Given the description of an element on the screen output the (x, y) to click on. 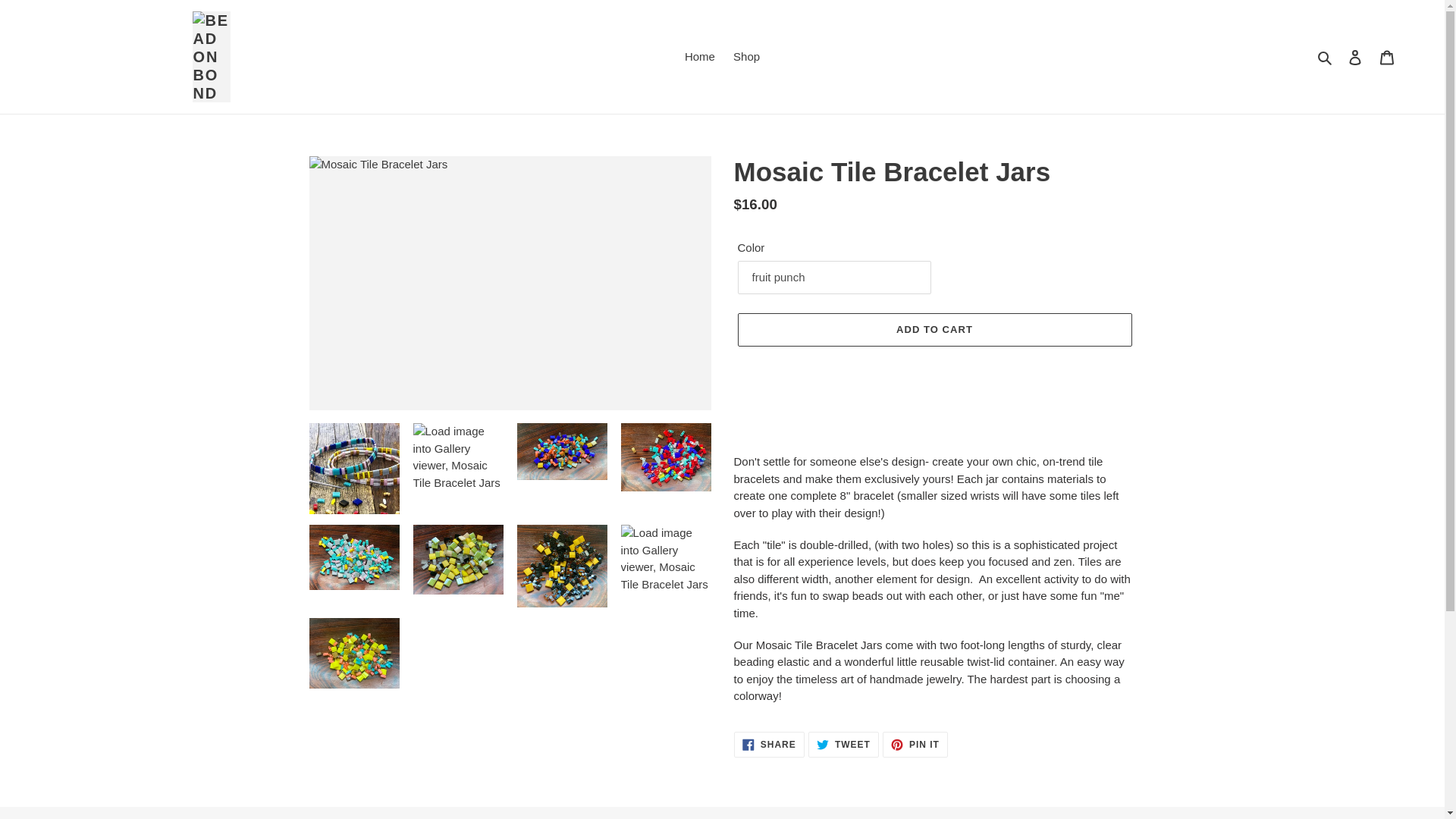
ADD TO CART (933, 329)
Search (914, 743)
Home (1326, 56)
Cart (699, 56)
Log in (1387, 56)
Shop (769, 743)
